Given the description of an element on the screen output the (x, y) to click on. 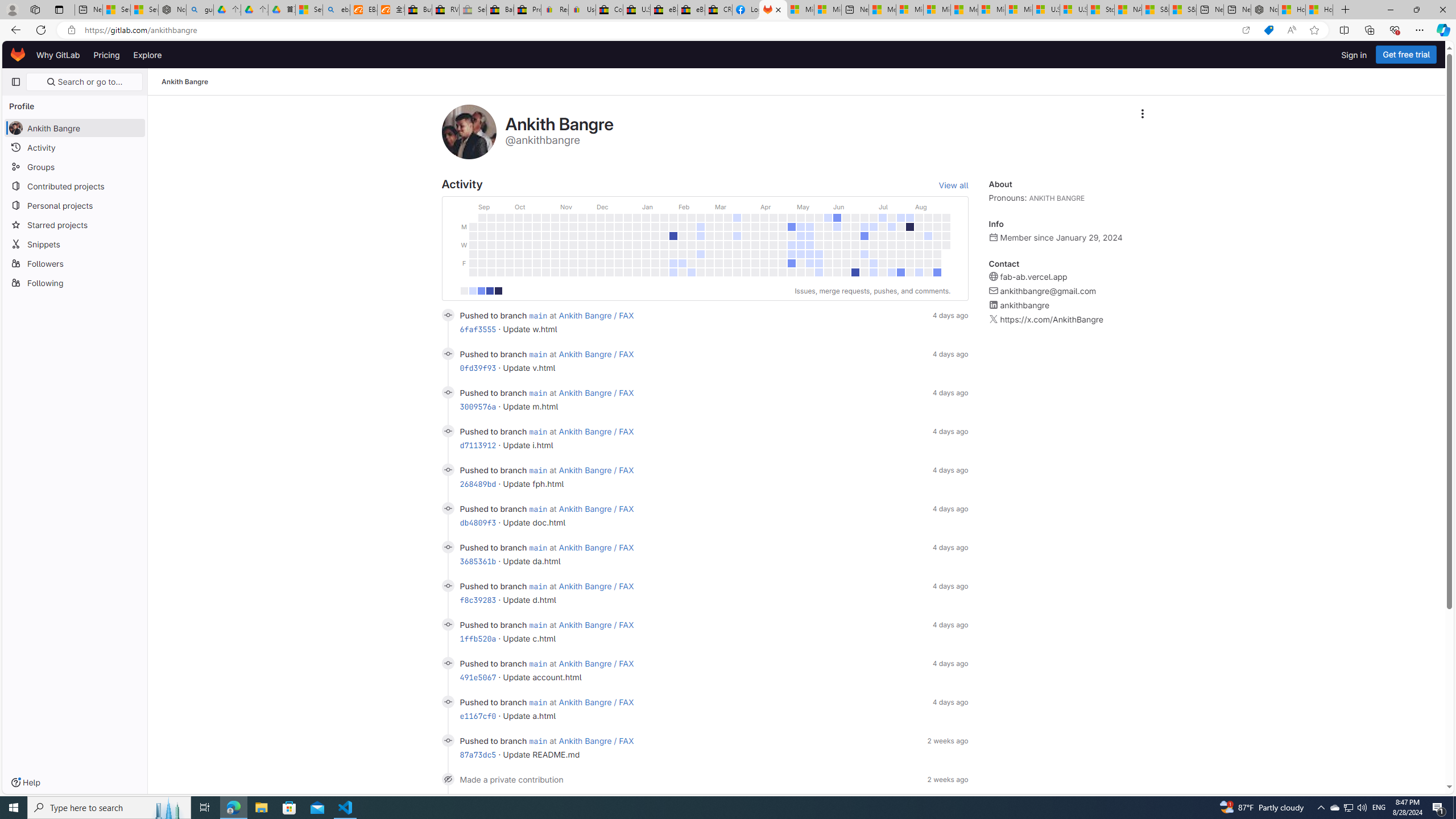
Pricing (106, 54)
Groups (74, 166)
10-19 contributions (480, 290)
Snippets (74, 244)
Baby Keepsakes & Announcements for sale | eBay (499, 9)
